Given the description of an element on the screen output the (x, y) to click on. 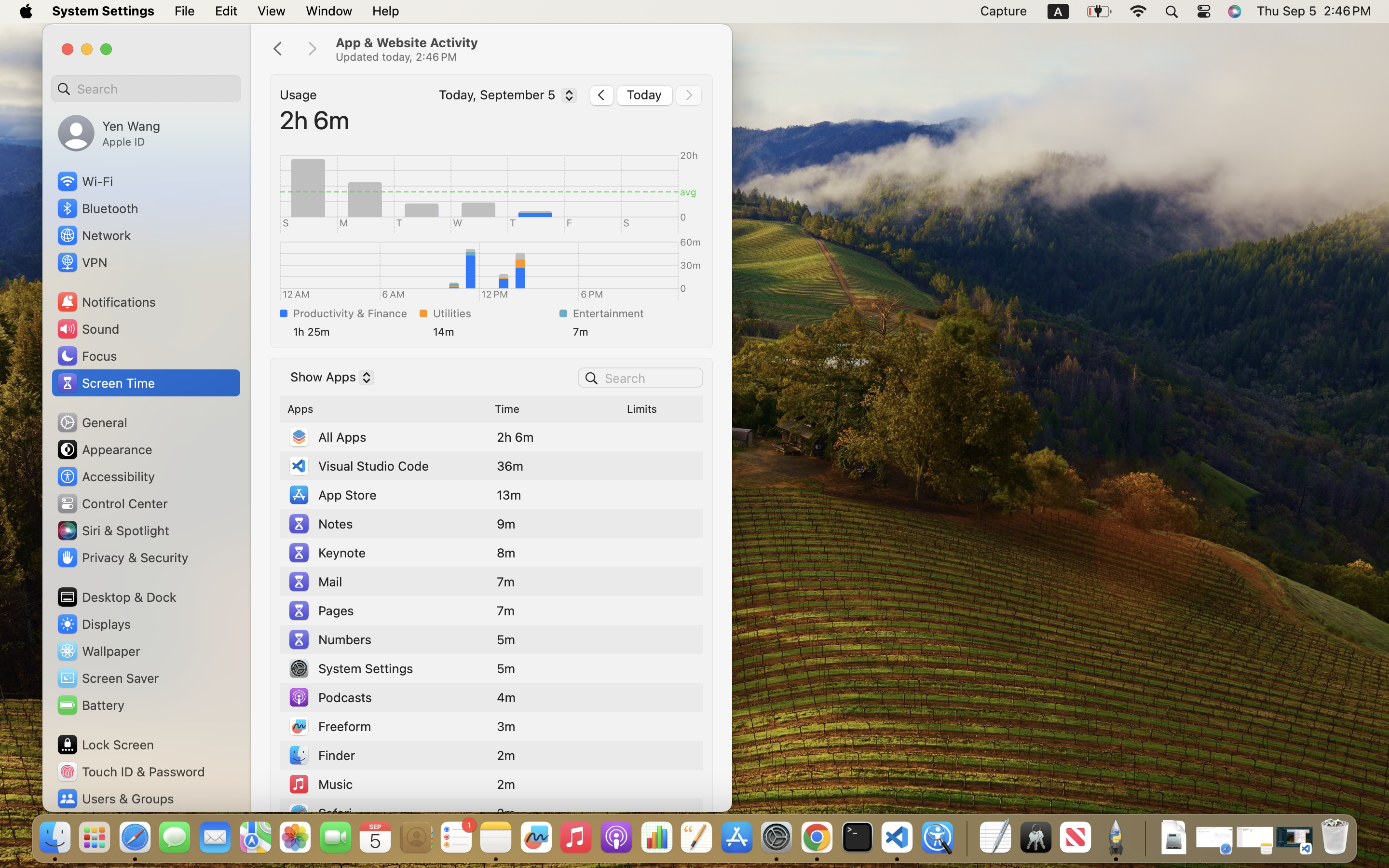
Screen Time Element type: AXStaticText (105, 382)
Entertainment Element type: AXStaticText (634, 313)
Lock Screen Element type: AXStaticText (104, 744)
